Given the description of an element on the screen output the (x, y) to click on. 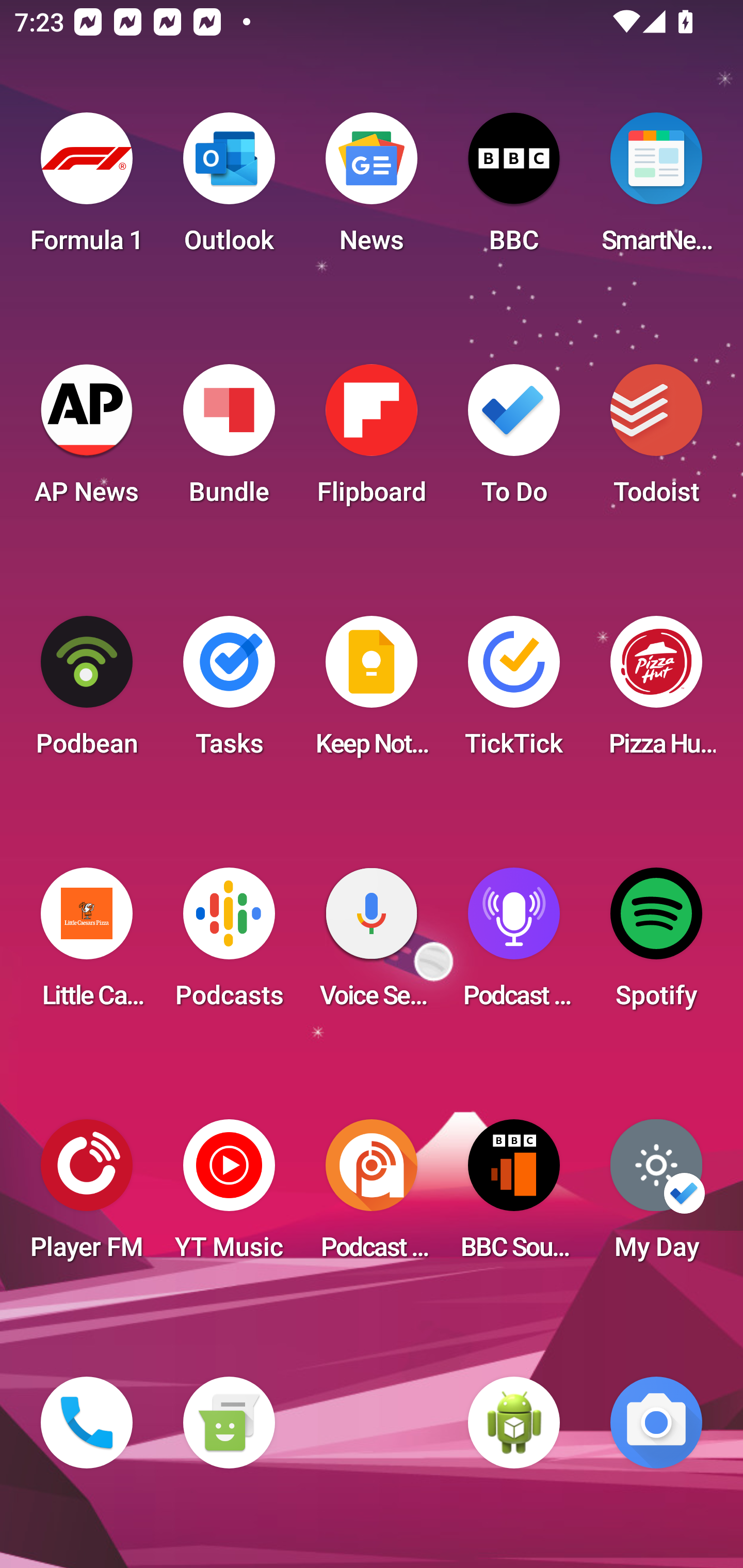
Formula 1 (86, 188)
Outlook (228, 188)
News (371, 188)
BBC (513, 188)
SmartNews (656, 188)
AP News (86, 440)
Bundle (228, 440)
Flipboard (371, 440)
To Do (513, 440)
Todoist (656, 440)
Podbean (86, 692)
Tasks (228, 692)
Keep Notes (371, 692)
TickTick (513, 692)
Pizza Hut HK & Macau (656, 692)
Little Caesars Pizza (86, 943)
Podcasts (228, 943)
Voice Search (371, 943)
Podcast Player (513, 943)
Spotify (656, 943)
Player FM (86, 1195)
YT Music (228, 1195)
Podcast Addict (371, 1195)
BBC Sounds (513, 1195)
My Day (656, 1195)
Phone (86, 1422)
Messaging (228, 1422)
WebView Browser Tester (513, 1422)
Camera (656, 1422)
